Given the description of an element on the screen output the (x, y) to click on. 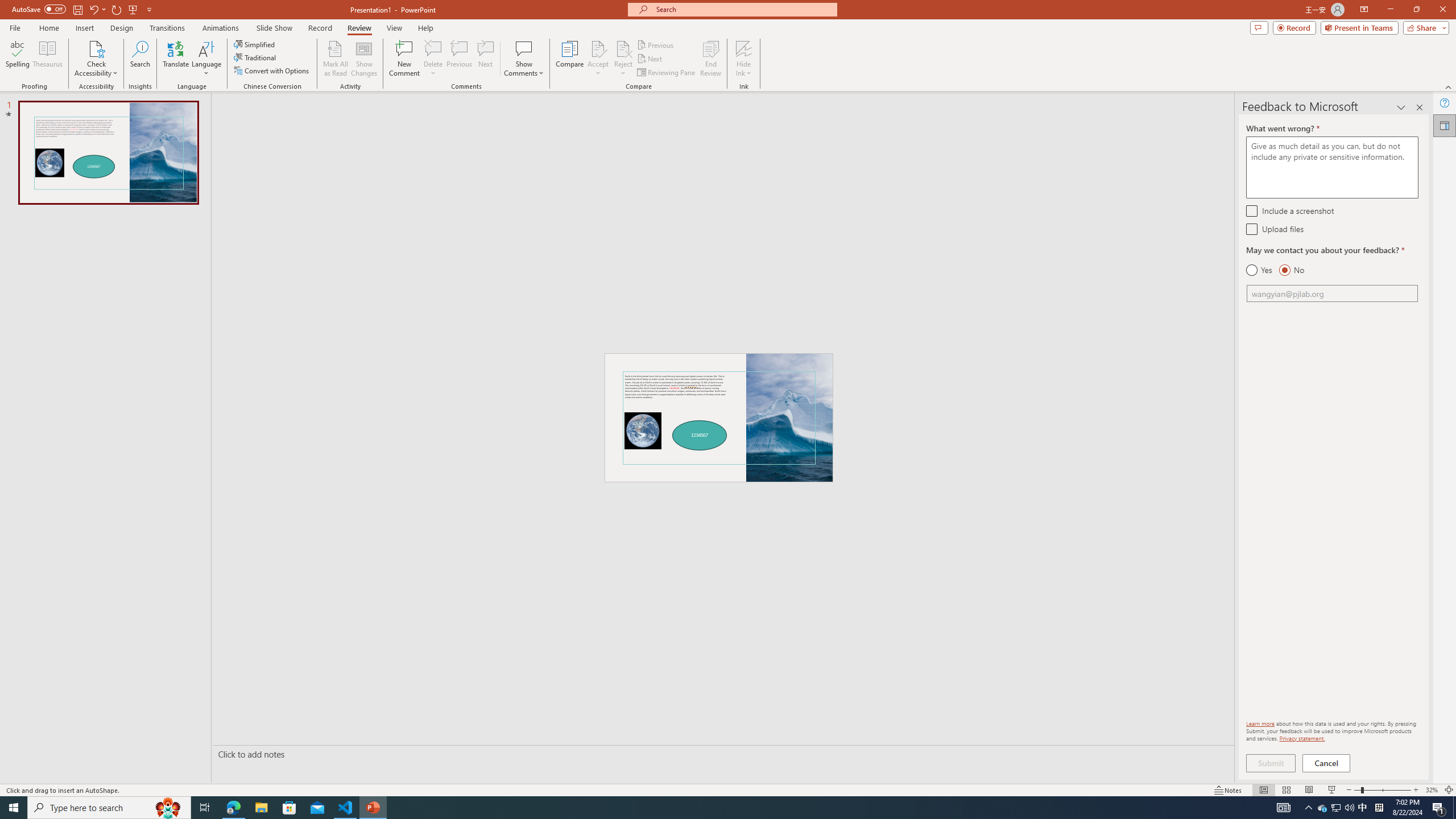
Privacy statement. (1301, 738)
Compare (569, 58)
Reviewing Pane (666, 72)
Show Changes (363, 58)
Reject Change (622, 48)
End Review (710, 58)
Thesaurus... (47, 58)
